Given the description of an element on the screen output the (x, y) to click on. 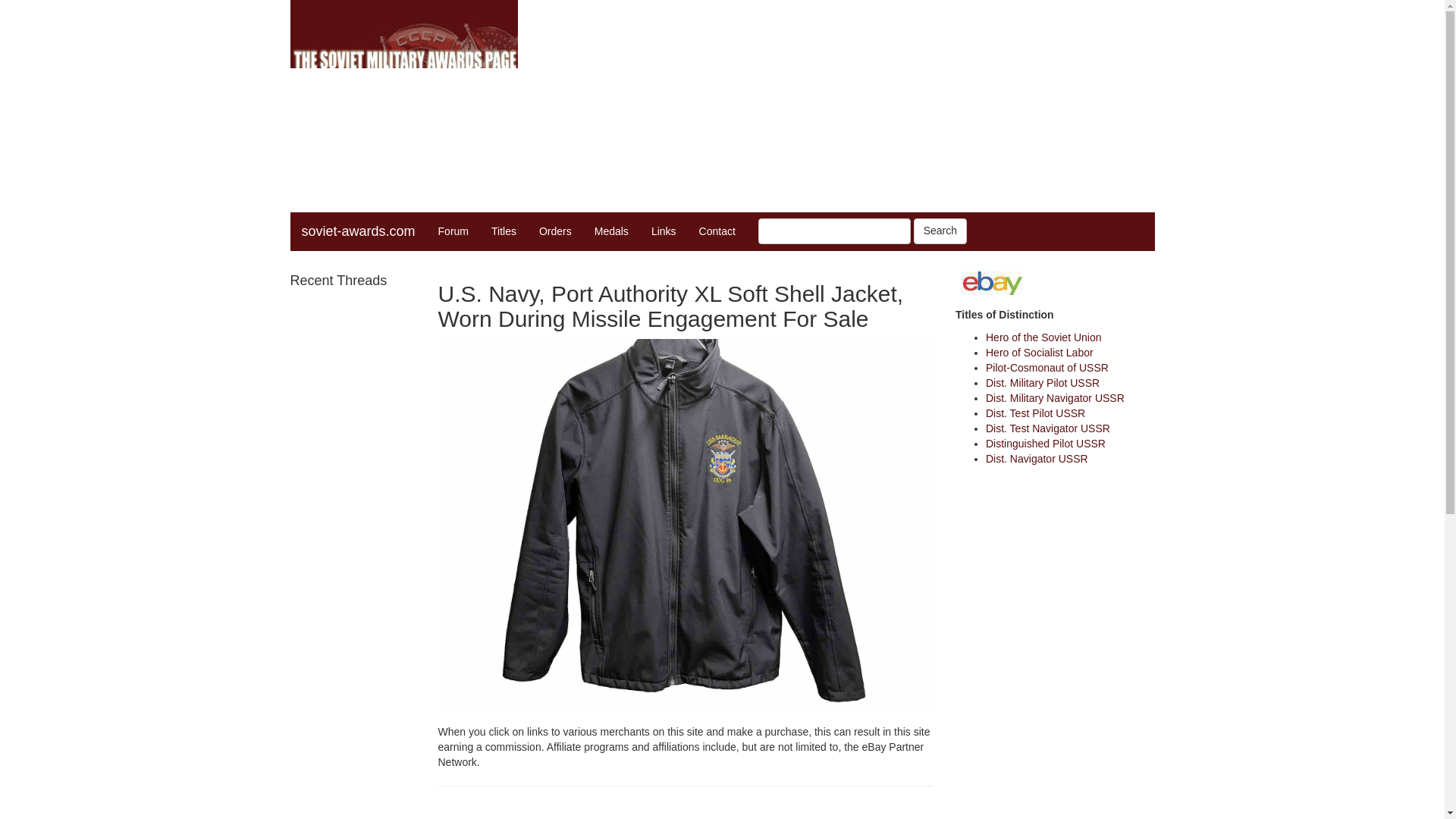
Distinguished Pilot USSR (1045, 443)
soviet-awards.com (357, 231)
Dist. Test Navigator USSR (1047, 428)
Medals (611, 231)
Dist. Military Navigator USSR (1054, 398)
Titles (503, 231)
Links (663, 231)
Advertisement (869, 106)
Hero of Socialist Labor (1039, 352)
Orders (555, 231)
Pilot-Cosmonaut of USSR (1046, 367)
Dist. Test Pilot USSR (1034, 413)
Contact (716, 231)
Forum (453, 231)
